Given the description of an element on the screen output the (x, y) to click on. 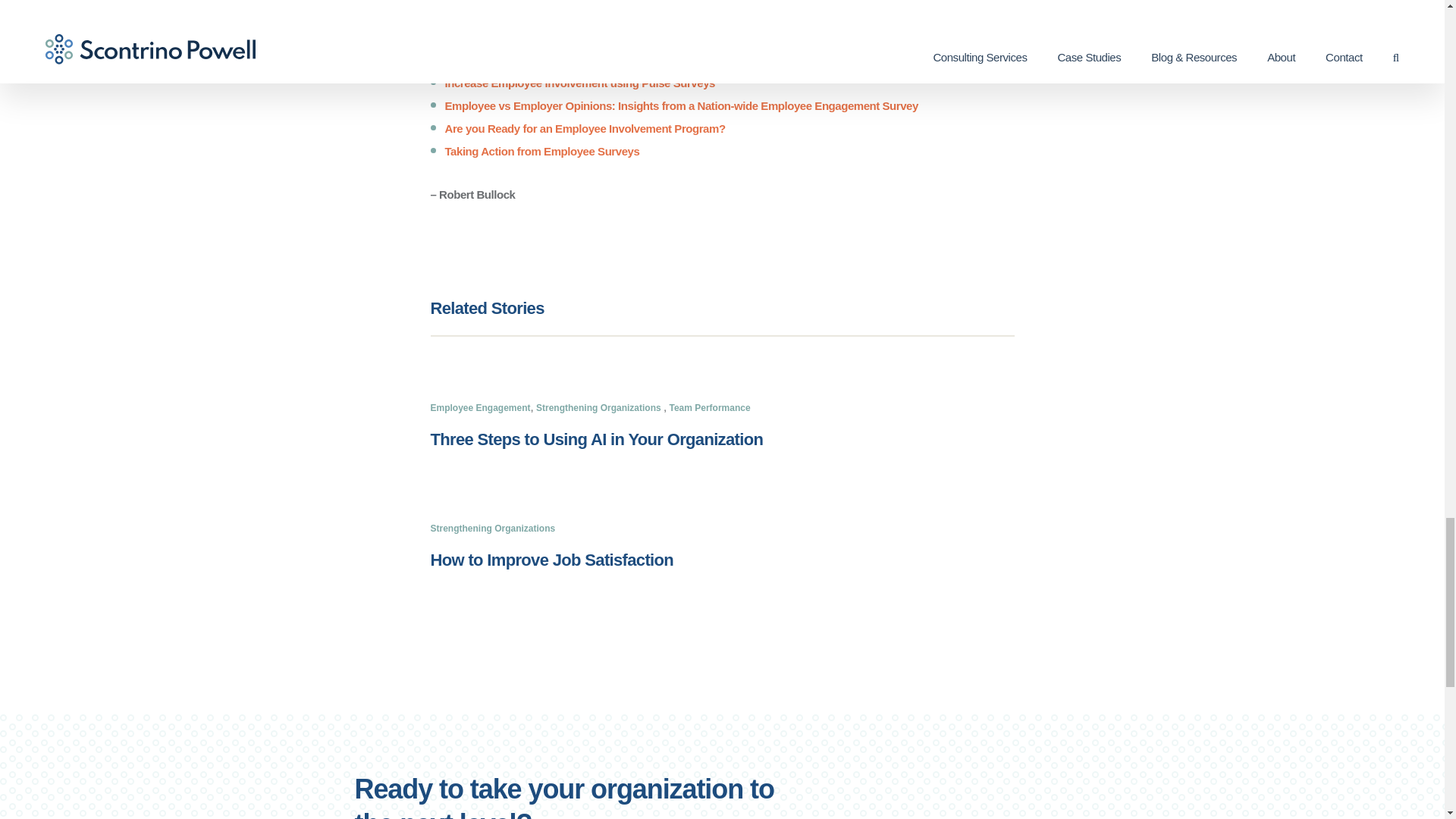
How to Improve Job Satisfaction (552, 559)
Employee Engagement (480, 407)
Three Steps to Using AI in Your Organization (596, 438)
Strengthening Organizations (493, 528)
Blogs on employee involvement (709, 11)
future blogs (709, 11)
Team Performance (708, 407)
Strengthening Organizations (599, 407)
